Given the description of an element on the screen output the (x, y) to click on. 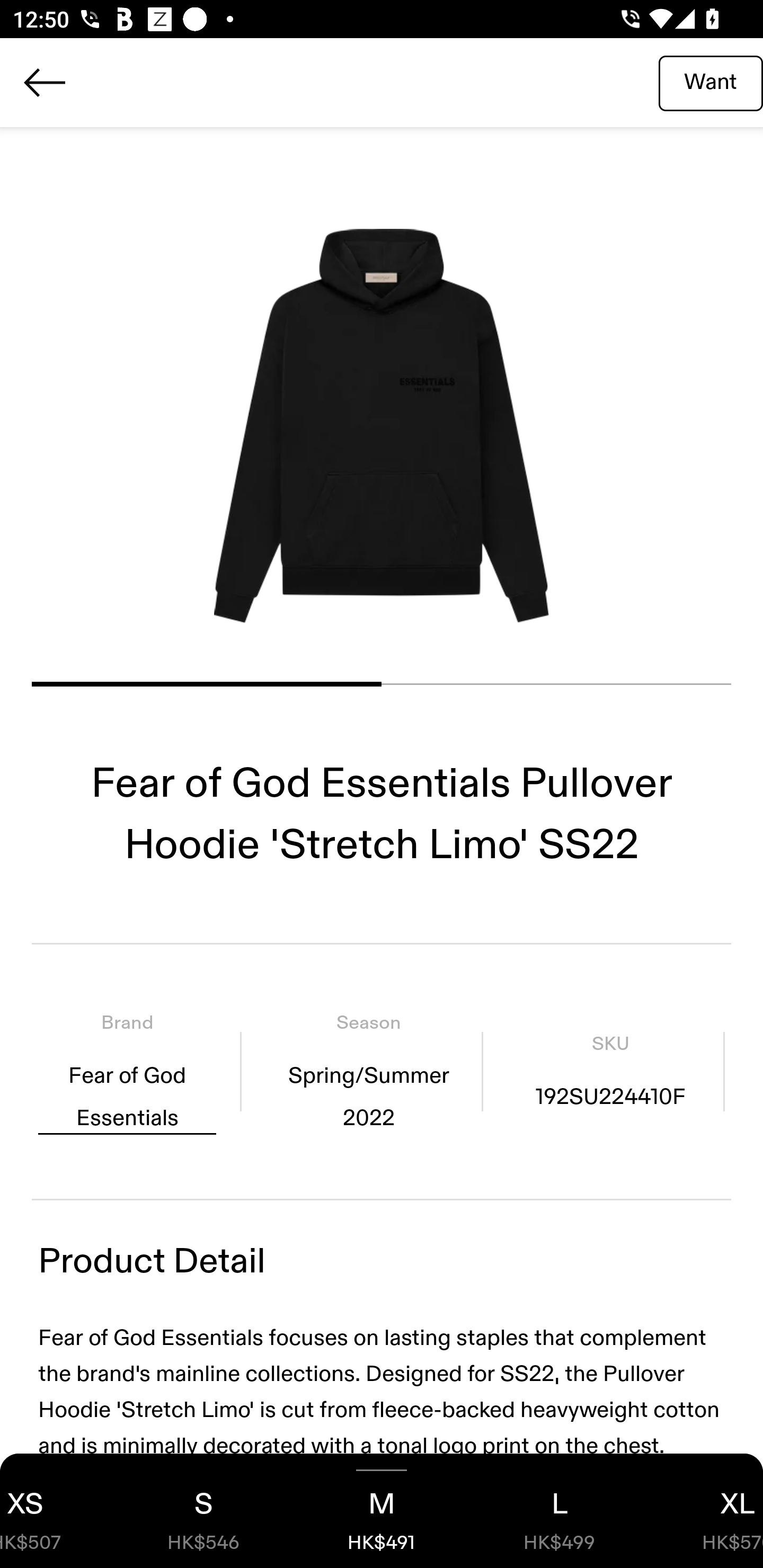
Want (710, 82)
Brand Fear of God Essentials (126, 1070)
Season Spring/Summer 2022 (368, 1070)
SKU 192SU224410F (609, 1070)
XS HK$507 (57, 1510)
S HK$546 (203, 1510)
M HK$491 (381, 1510)
L HK$499 (559, 1510)
XL HK$570 (705, 1510)
